Given the description of an element on the screen output the (x, y) to click on. 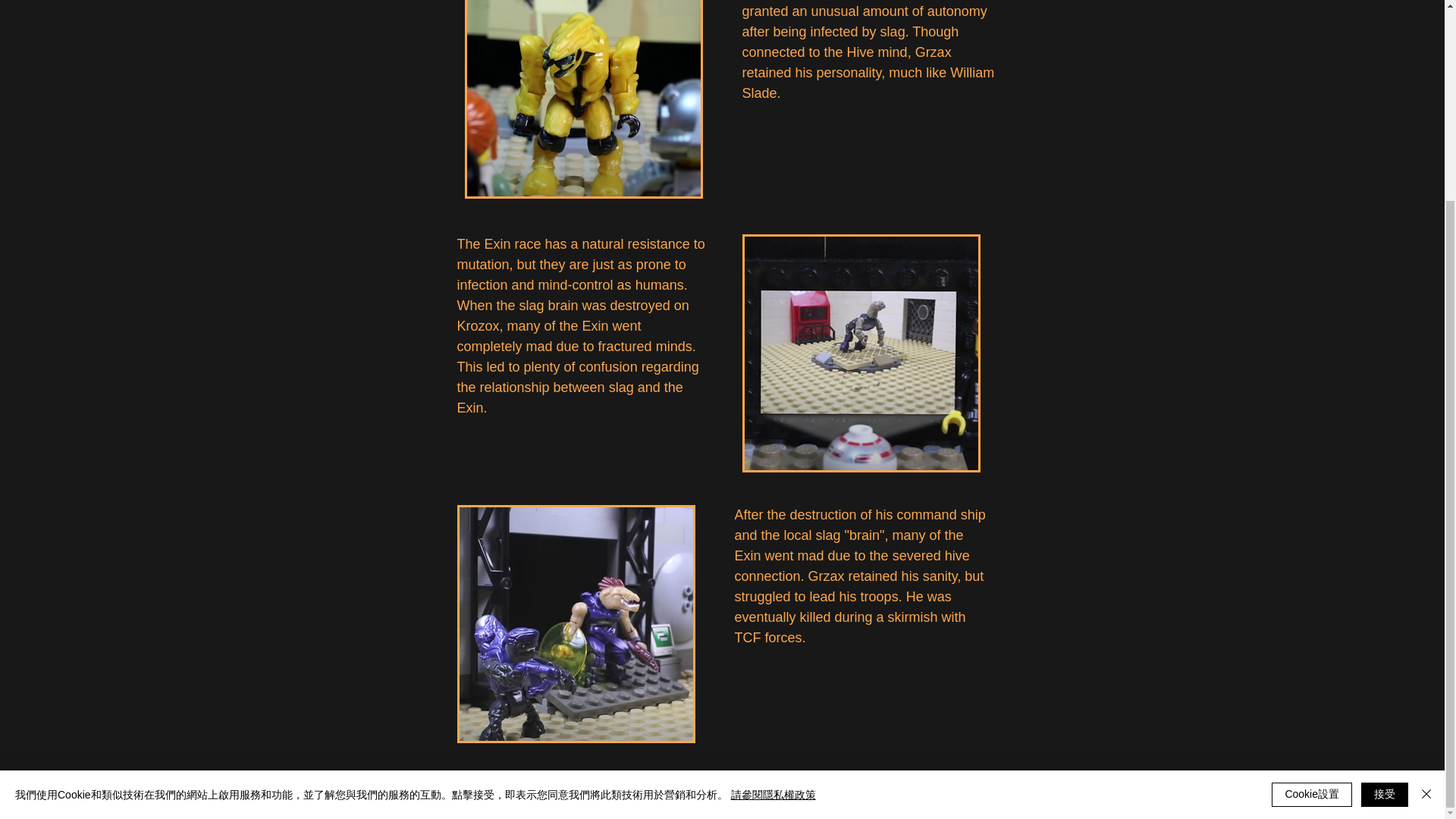
Screen Shot 2021-01-29 at 8.26.48 AM cop (575, 623)
Screen Shot 2021-01-29 at 8.23.14 AM.png (582, 99)
Screen Shot 2021-01-29 at 8.32.26 AM.png (860, 353)
